Given the description of an element on the screen output the (x, y) to click on. 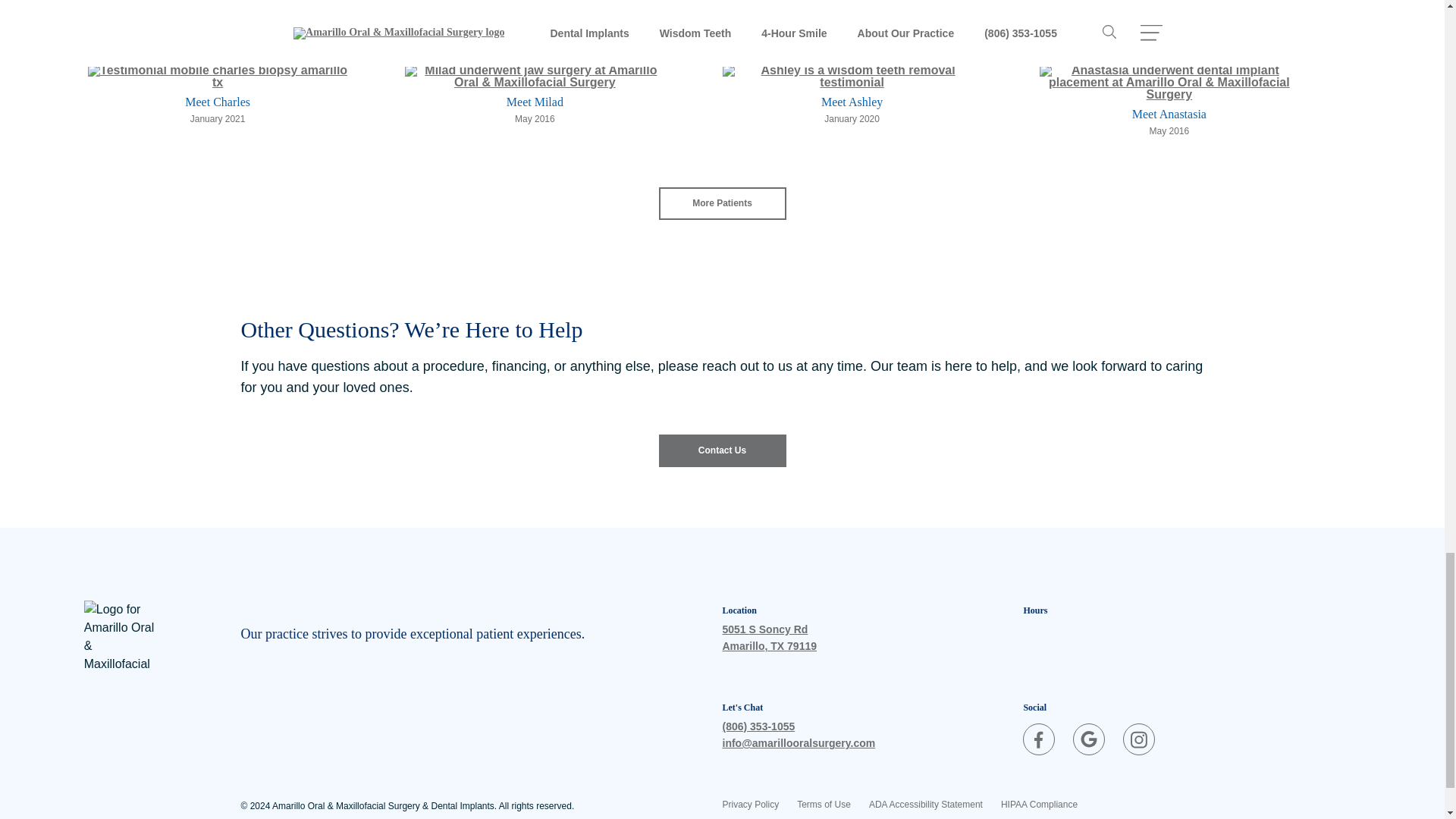
Follow us on Instagram (1138, 739)
Follow us on Google (1089, 739)
Follow us on Facebook (1038, 739)
